Given the description of an element on the screen output the (x, y) to click on. 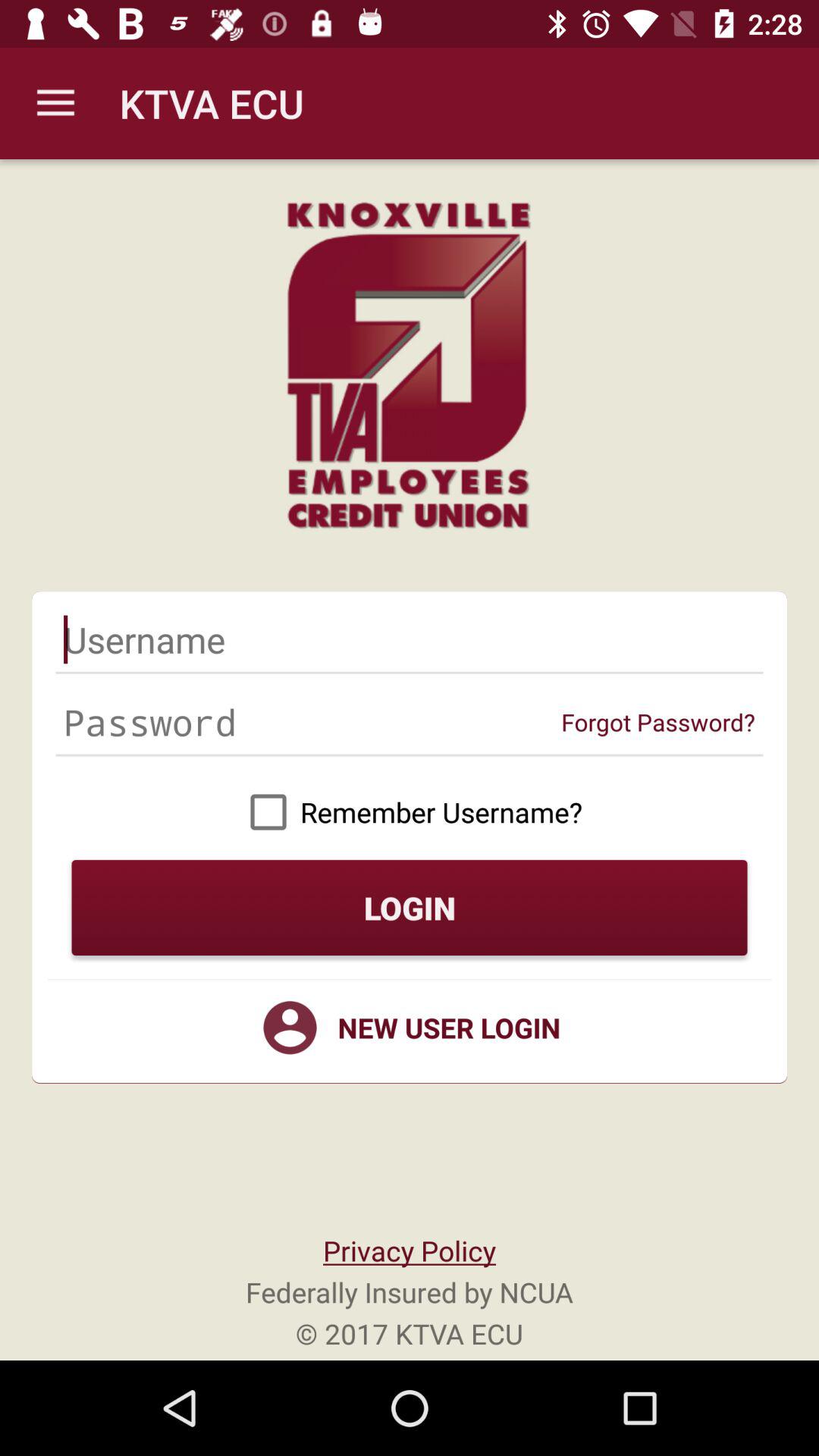
scroll to remember username? (409, 812)
